Given the description of an element on the screen output the (x, y) to click on. 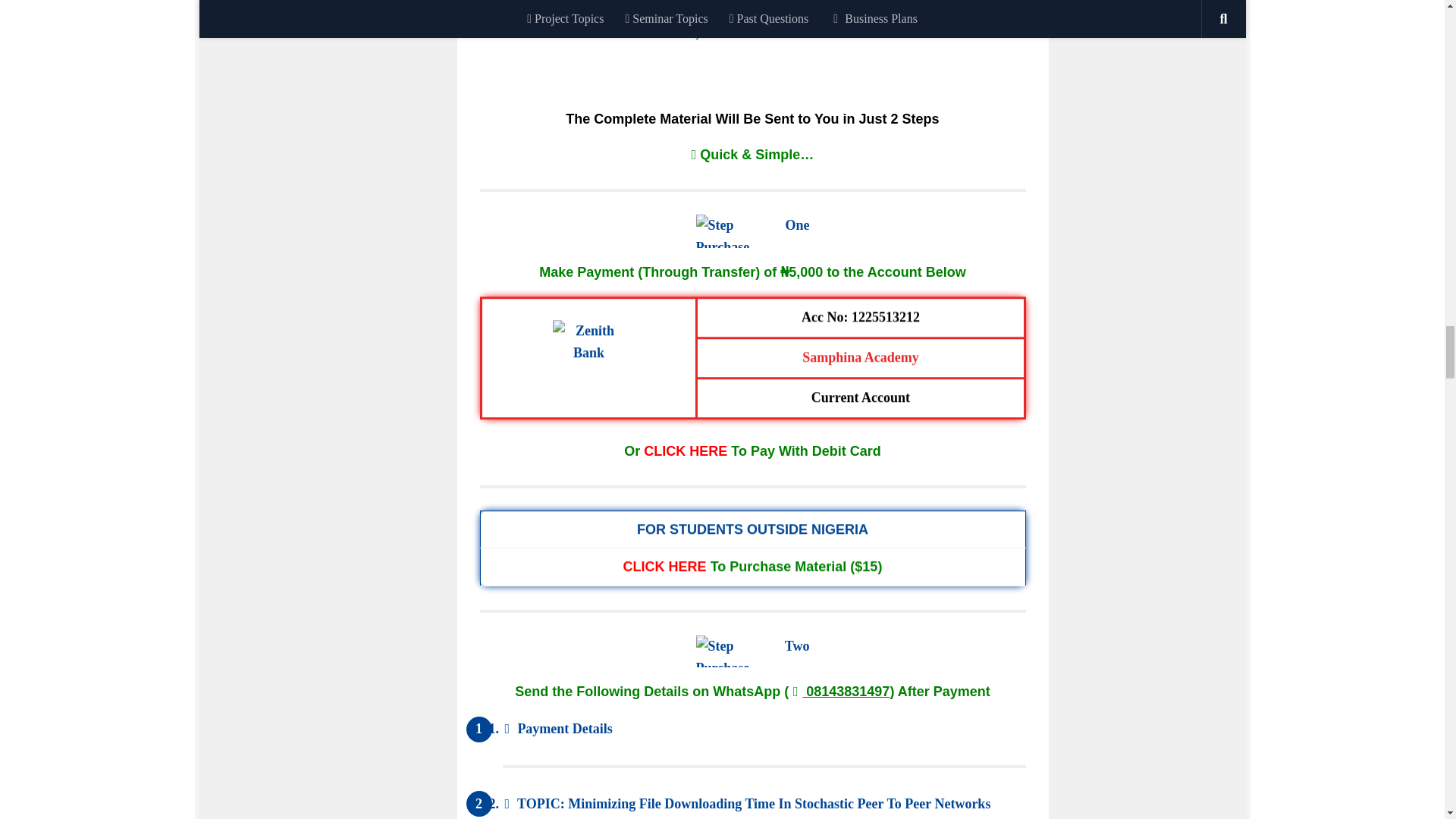
CLICK HERE (684, 450)
08143831497 (839, 691)
CLICK HERE (664, 566)
